Given the description of an element on the screen output the (x, y) to click on. 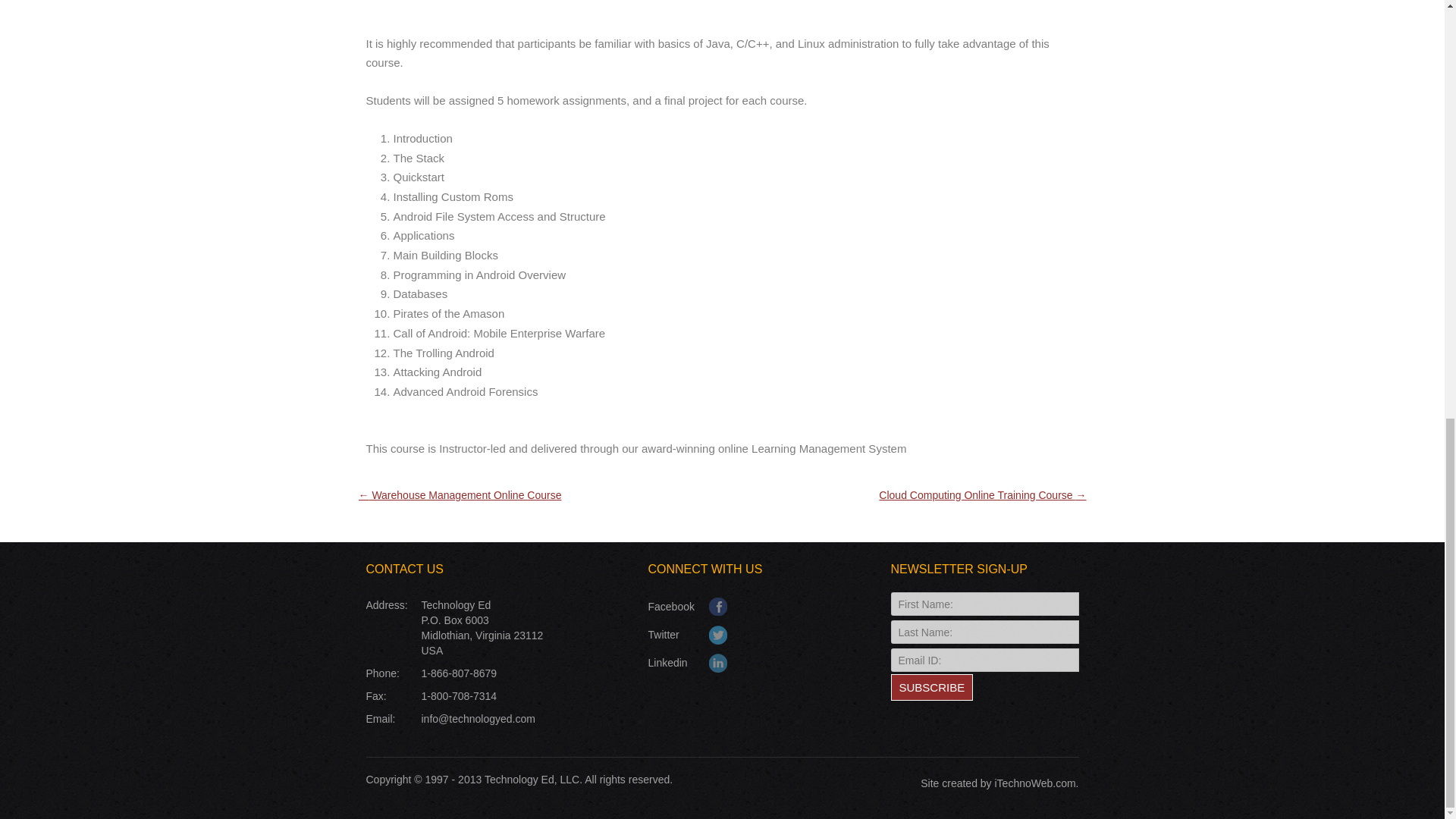
Subscribe (930, 687)
Subscribe (930, 687)
iTechnoWeb.com. (1036, 783)
